Given the description of an element on the screen output the (x, y) to click on. 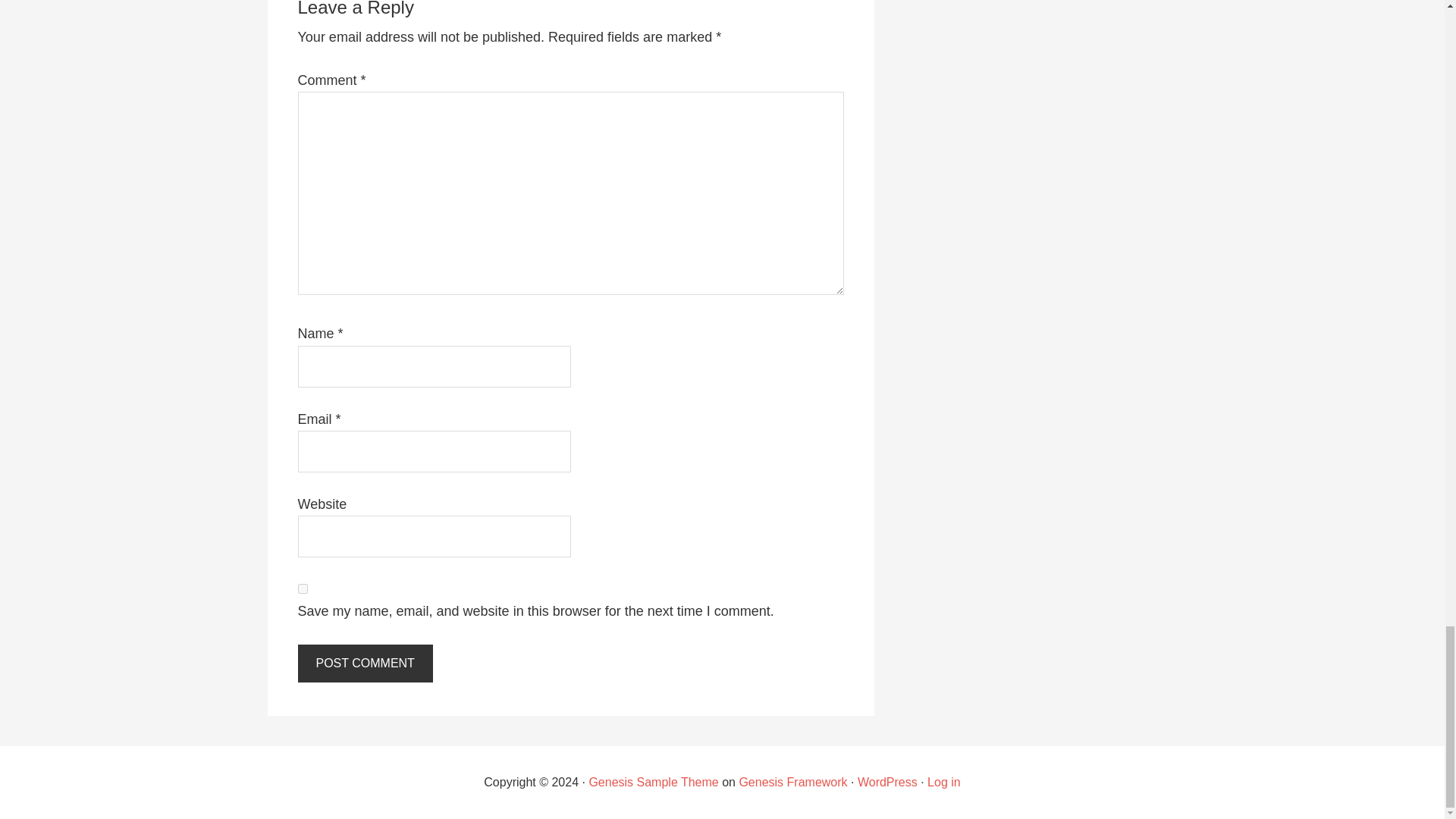
Post Comment (364, 663)
yes (302, 588)
Post Comment (364, 663)
